Given the description of an element on the screen output the (x, y) to click on. 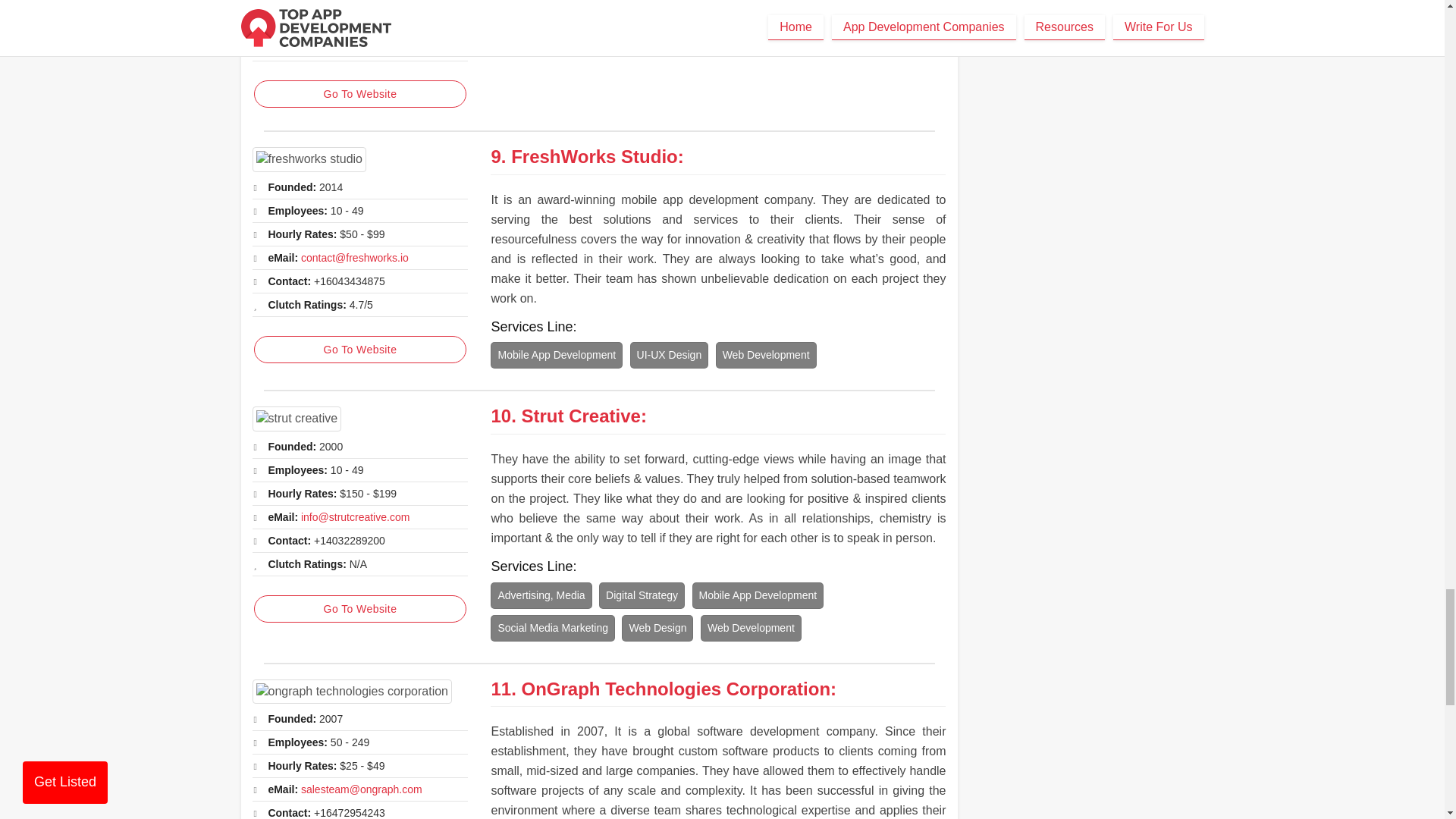
Strut Creative (295, 418)
FreshWorks Studio (308, 159)
OnGraph Technologies Corporation (351, 691)
